Given the description of an element on the screen output the (x, y) to click on. 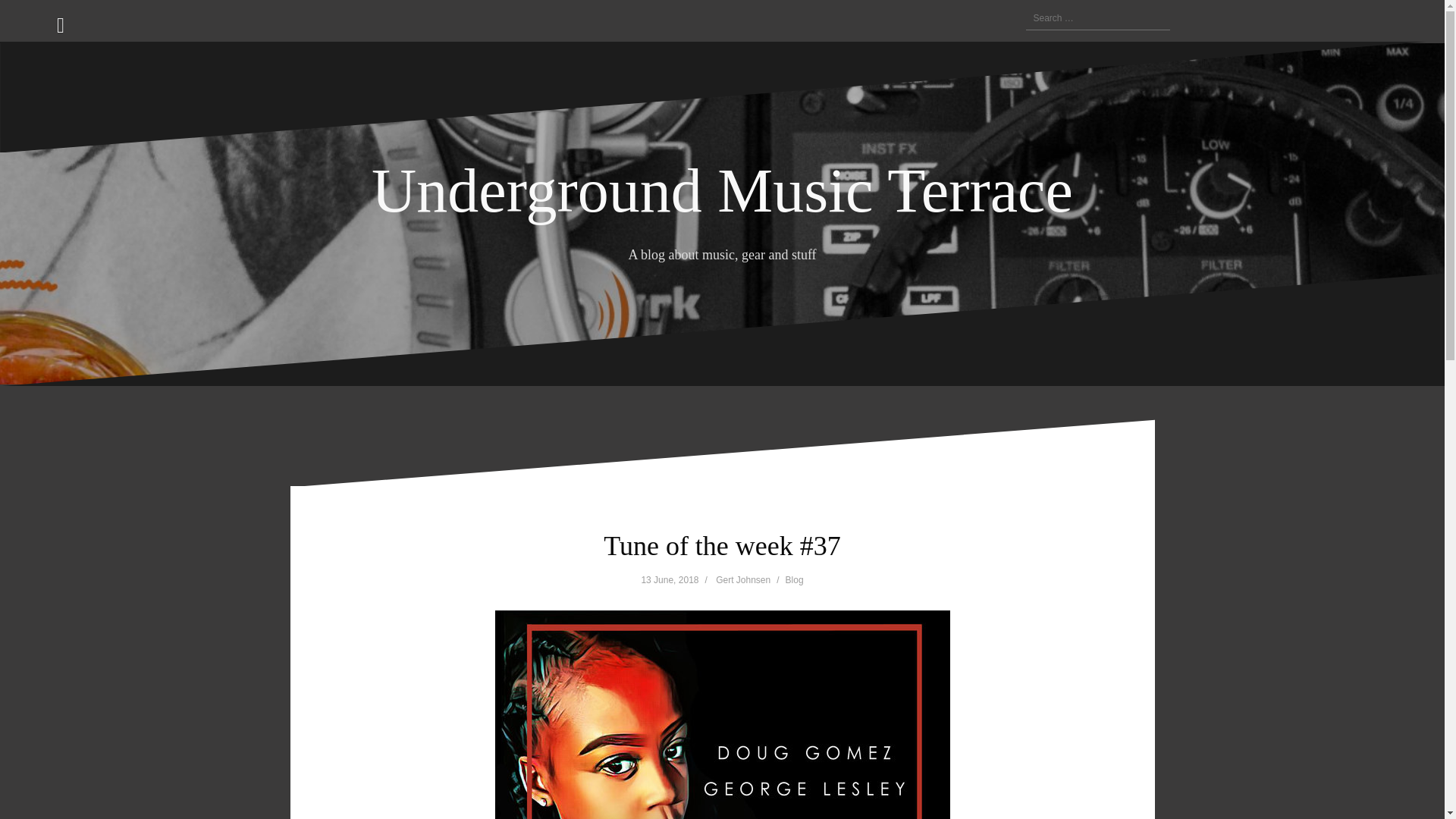
Search (30, 20)
Blog (794, 579)
Underground Music Terrace (722, 190)
Gert Johnsen (743, 579)
13 June, 2018 (669, 579)
